Given the description of an element on the screen output the (x, y) to click on. 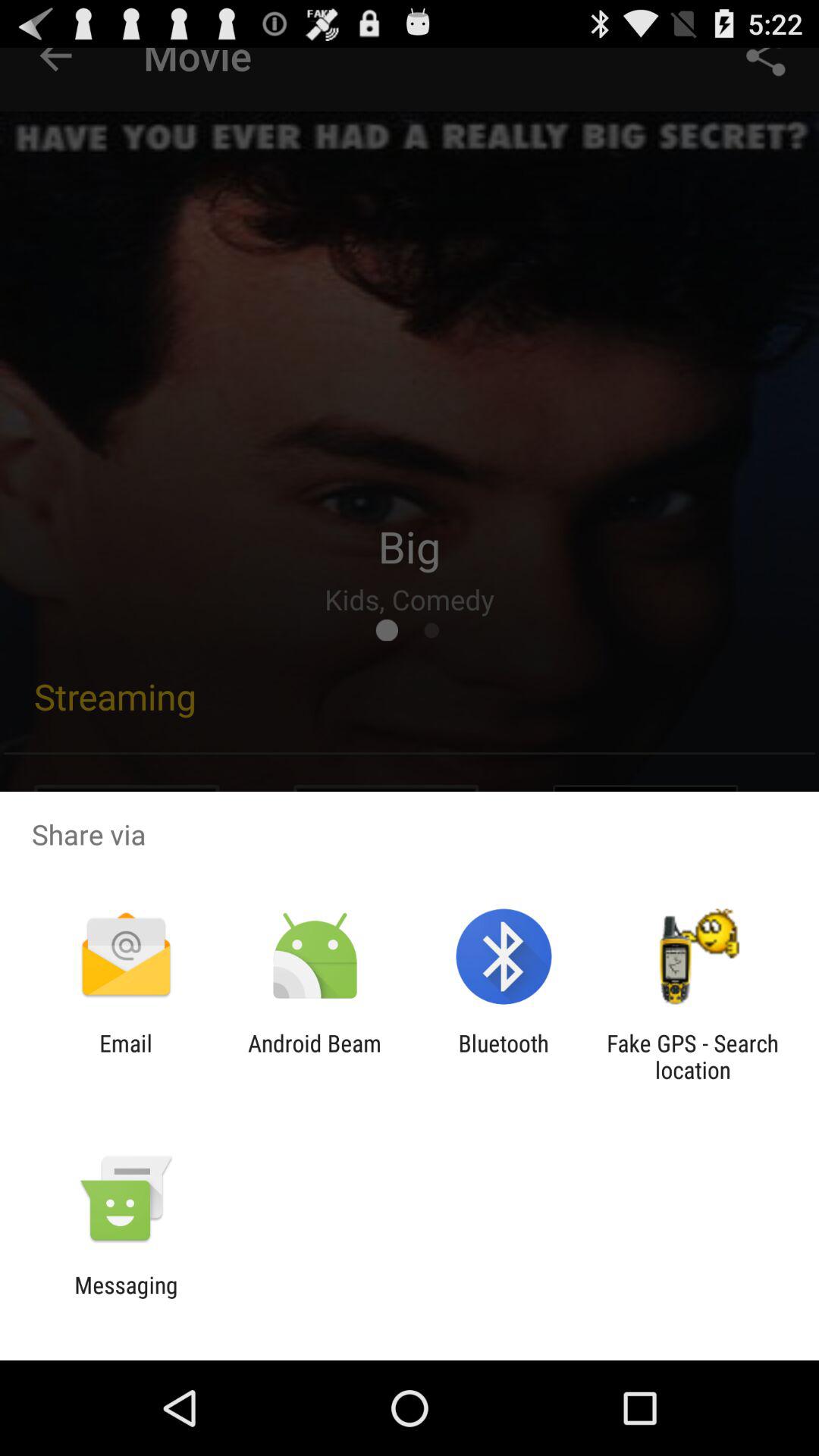
turn on icon next to bluetooth icon (314, 1056)
